Given the description of an element on the screen output the (x, y) to click on. 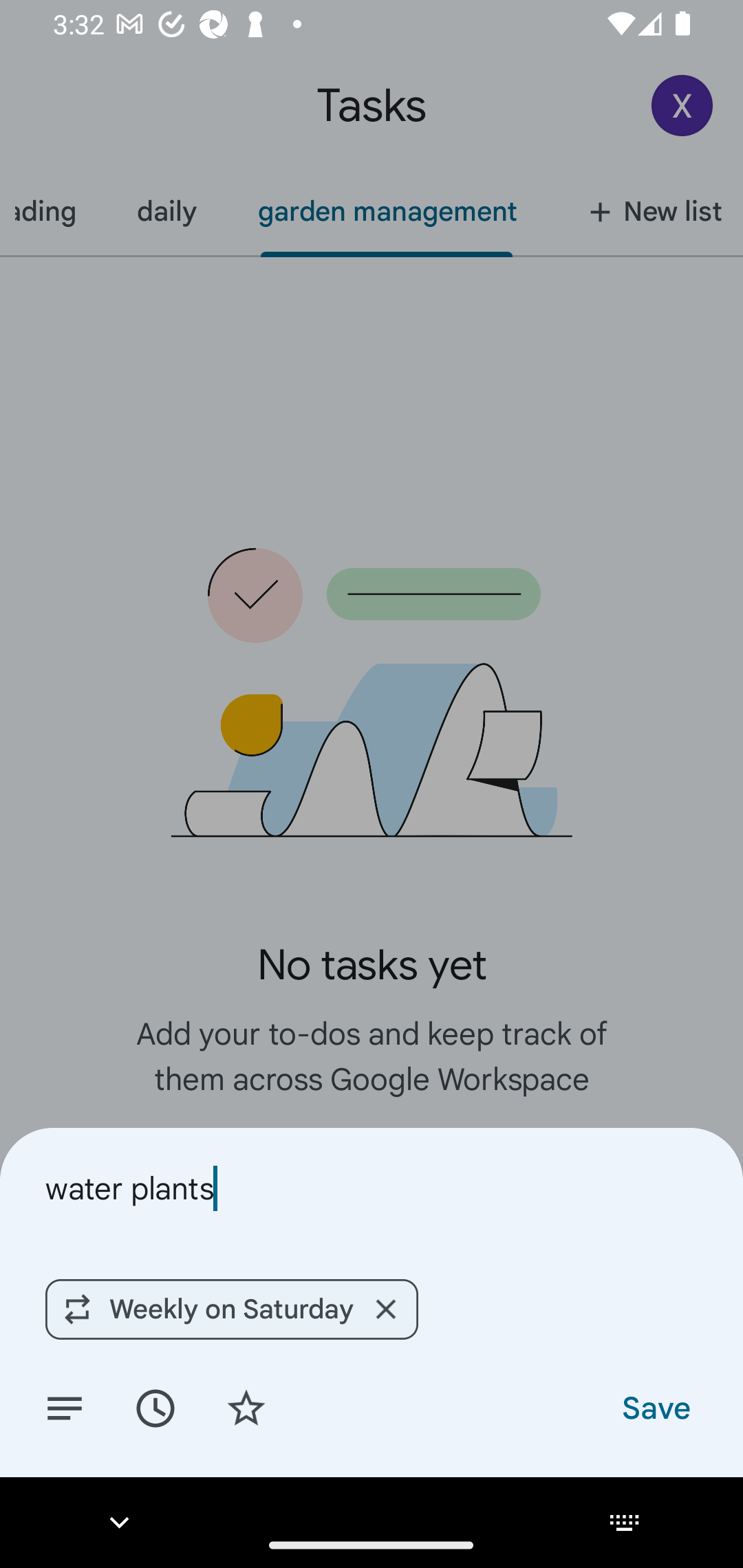
water plants (371, 1188)
Weekly on Saturday Remove Weekly on Saturday (231, 1308)
Save (655, 1407)
Add details (64, 1407)
Set date/time (154, 1407)
Add star (245, 1407)
